Given the description of an element on the screen output the (x, y) to click on. 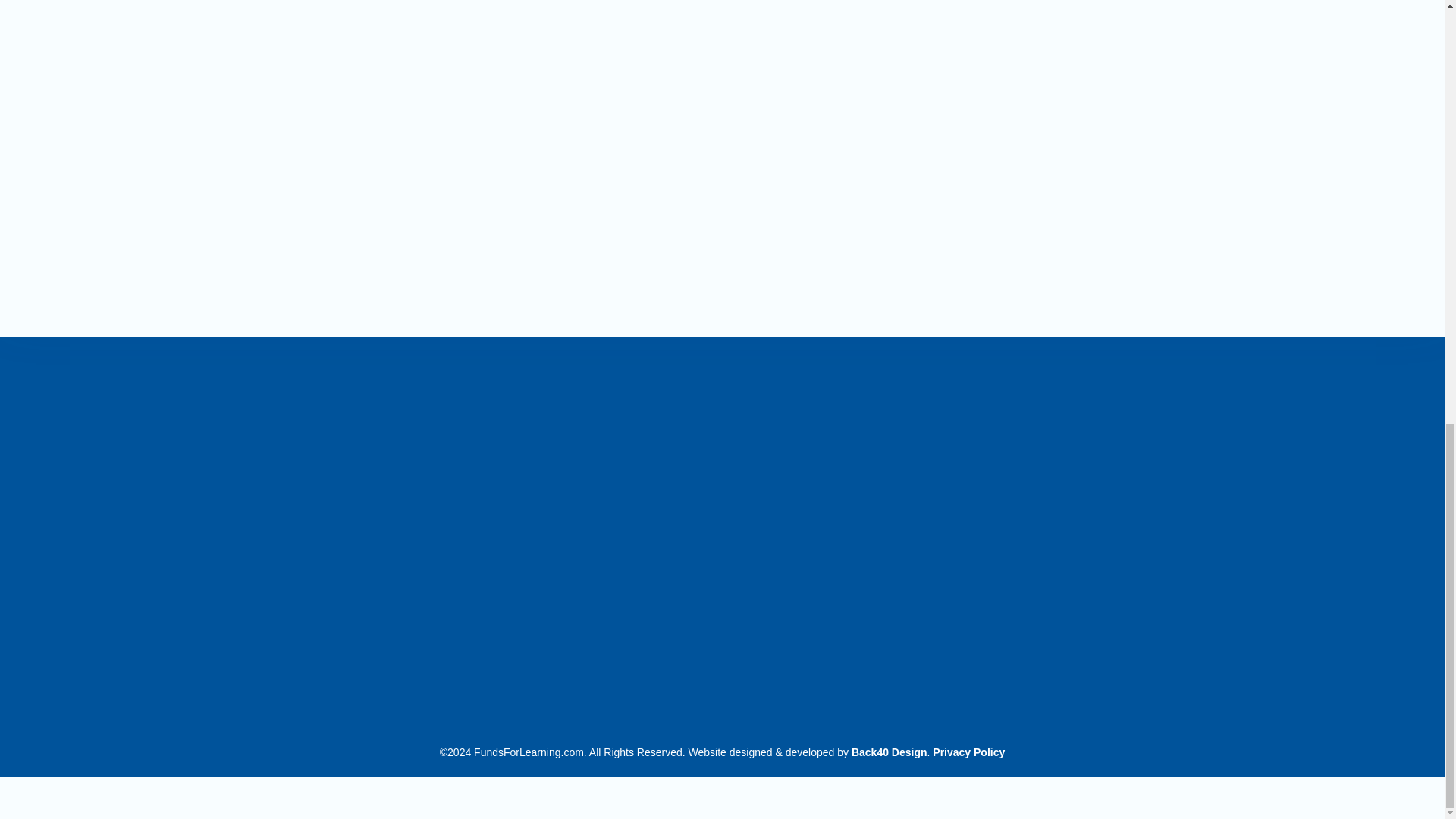
Privacy Policy (968, 752)
Back40 Design (889, 752)
